Given the description of an element on the screen output the (x, y) to click on. 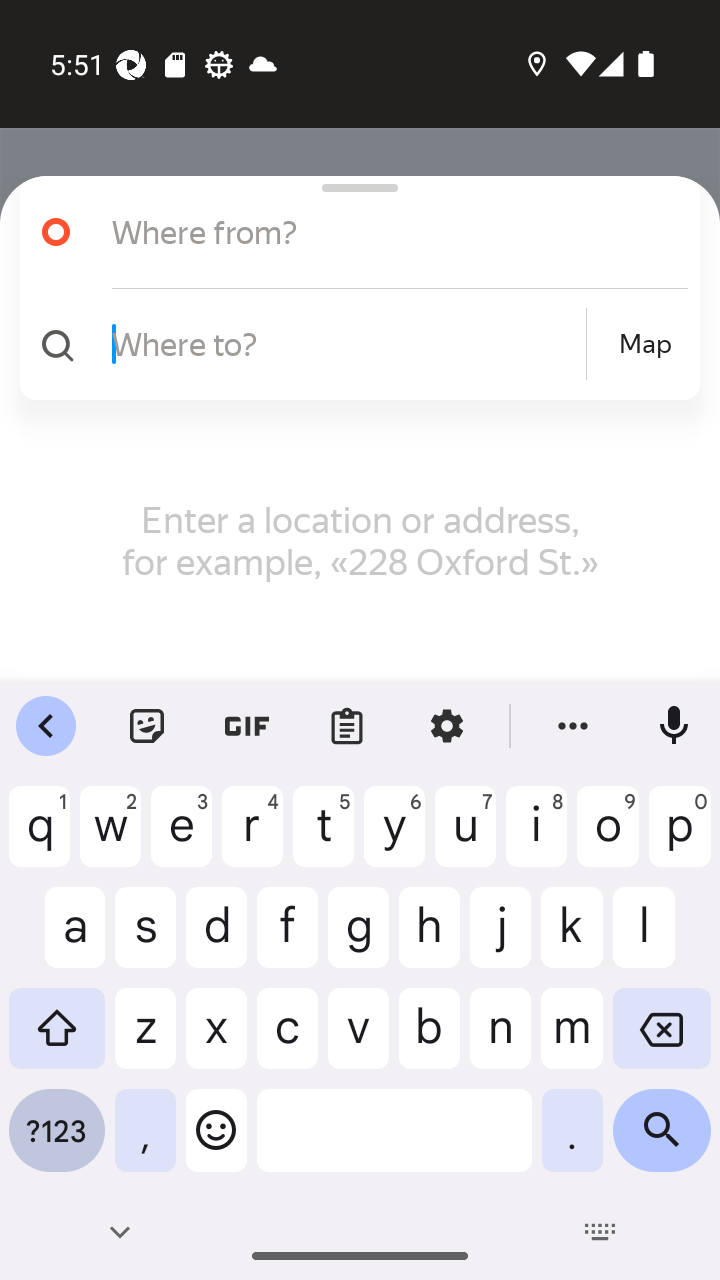
Where from? (352, 232)
Where from? (373, 232)
Where to? Map Map (352, 343)
Map (645, 343)
Where to? (346, 343)
